Given the description of an element on the screen output the (x, y) to click on. 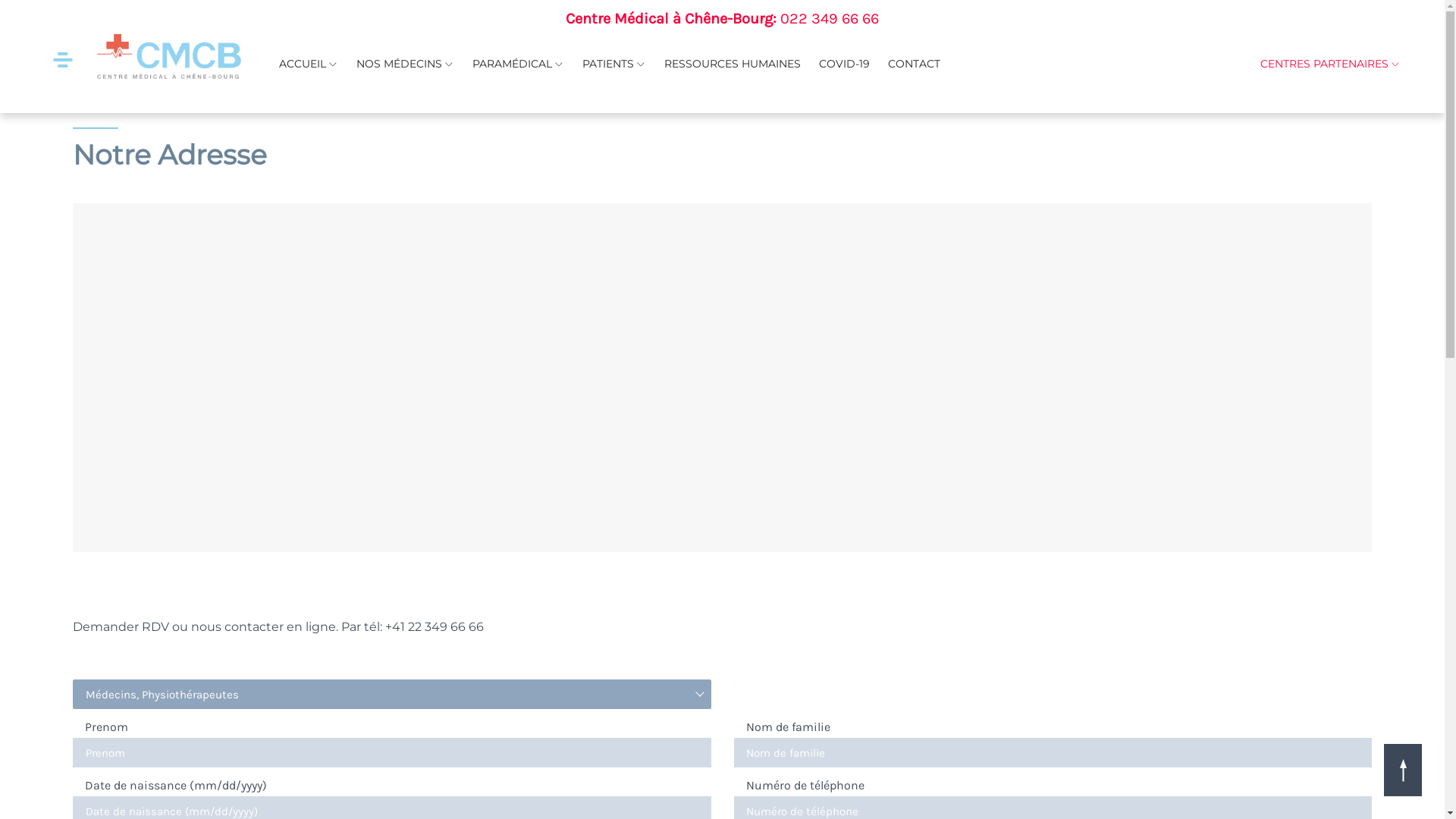
PATIENTS Element type: text (614, 63)
COVID-19 Element type: text (844, 63)
CENTRES PARTENAIRES Element type: text (1330, 63)
ACCUEIL Element type: text (308, 63)
RESSOURCES HUMAINES Element type: text (732, 63)
CONTACT Element type: text (914, 63)
